Given the description of an element on the screen output the (x, y) to click on. 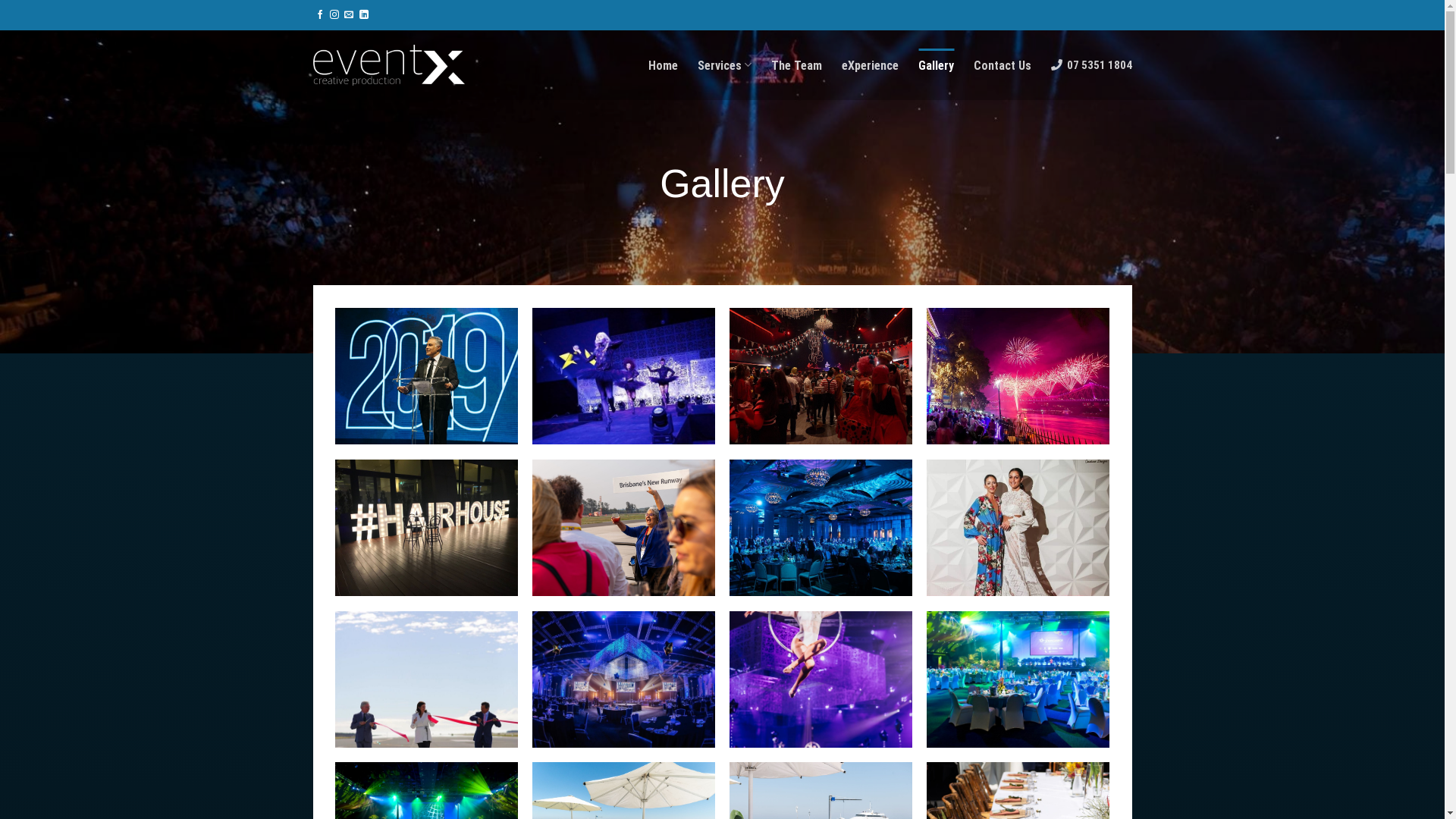
Follow on Facebook Element type: hover (319, 14)
eXperience Element type: text (869, 65)
Follow on Instagram Element type: hover (333, 14)
Skip to content Element type: text (0, 0)
The Team Element type: text (796, 65)
Follow on LinkedIn Element type: hover (363, 14)
Gallery Element type: text (935, 65)
Send us an email Element type: hover (348, 14)
07 5351 1804 Element type: text (1091, 64)
Home Element type: text (662, 65)
Contact Us Element type: text (1002, 65)
Services Element type: text (724, 65)
